Given the description of an element on the screen output the (x, y) to click on. 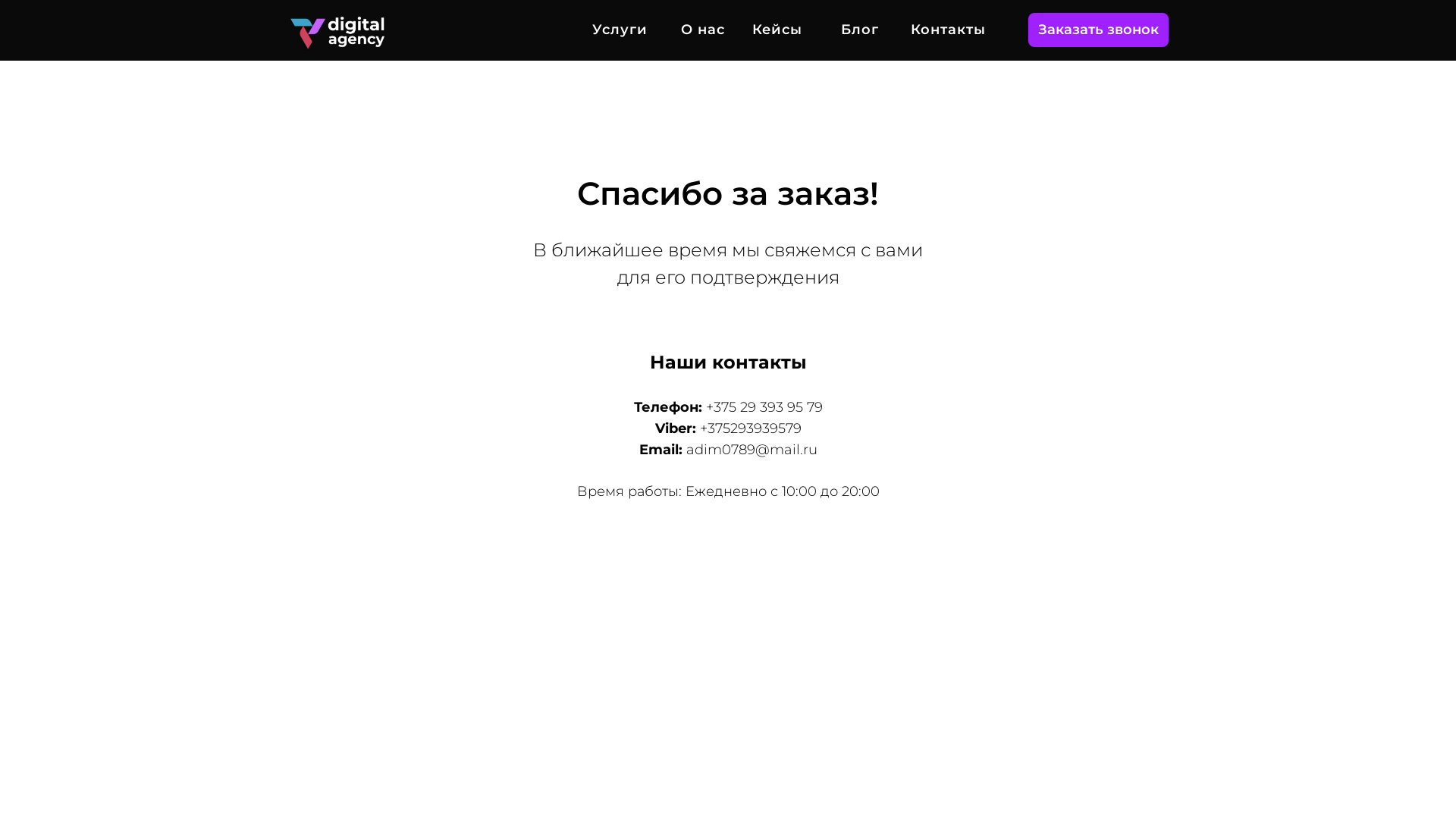
+375 29 393 95 79 Element type: text (763, 406)
